Given the description of an element on the screen output the (x, y) to click on. 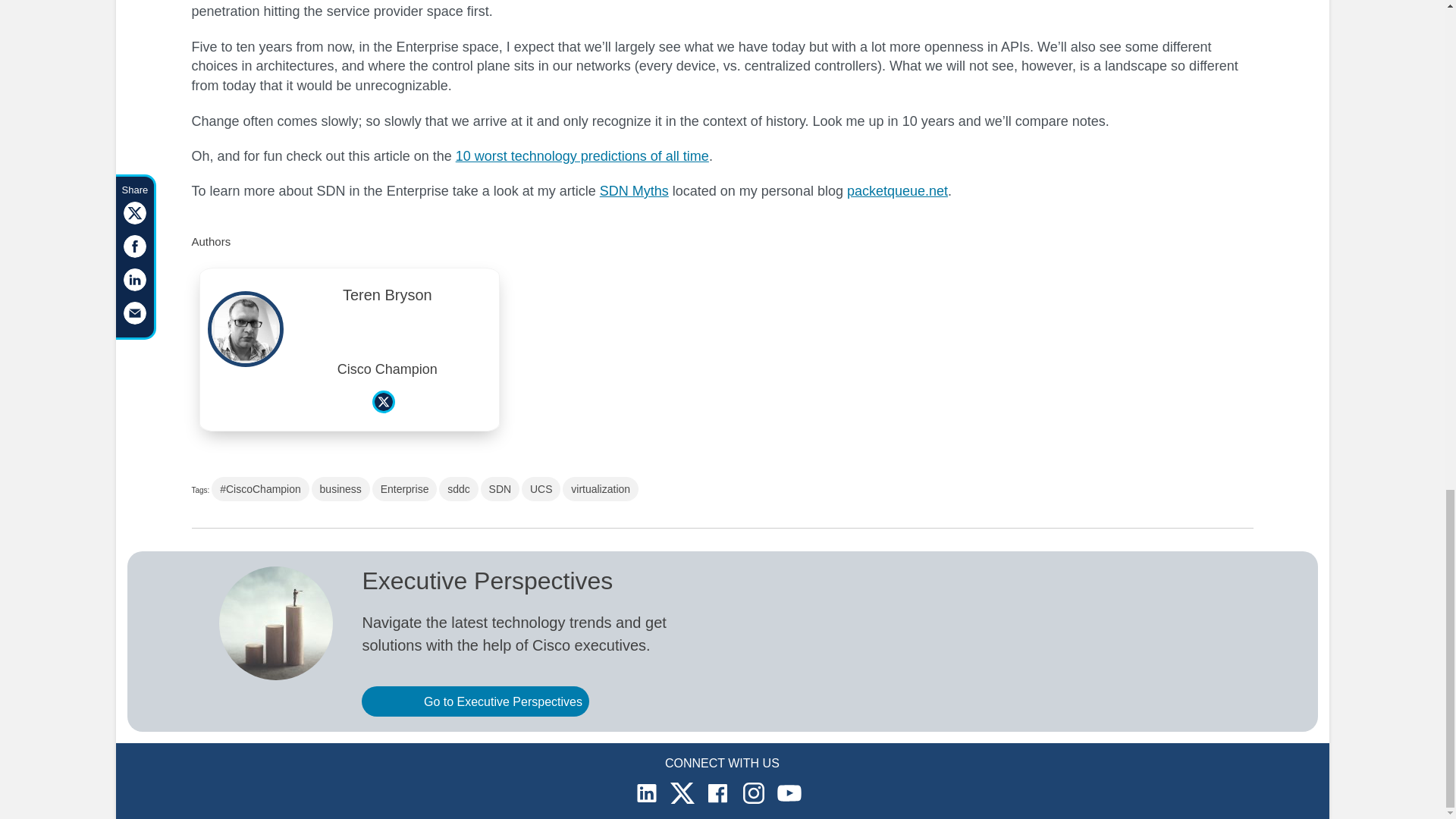
virtualization (600, 488)
Go to Executive Perspectives (475, 701)
sddc (459, 488)
SDN (499, 488)
Teren Bryson (387, 298)
UCS (540, 488)
SDN Myths (633, 191)
business (340, 488)
10 worst technology predictions of all time (582, 155)
Enterprise (405, 488)
packetqueue.net (897, 191)
